Given the description of an element on the screen output the (x, y) to click on. 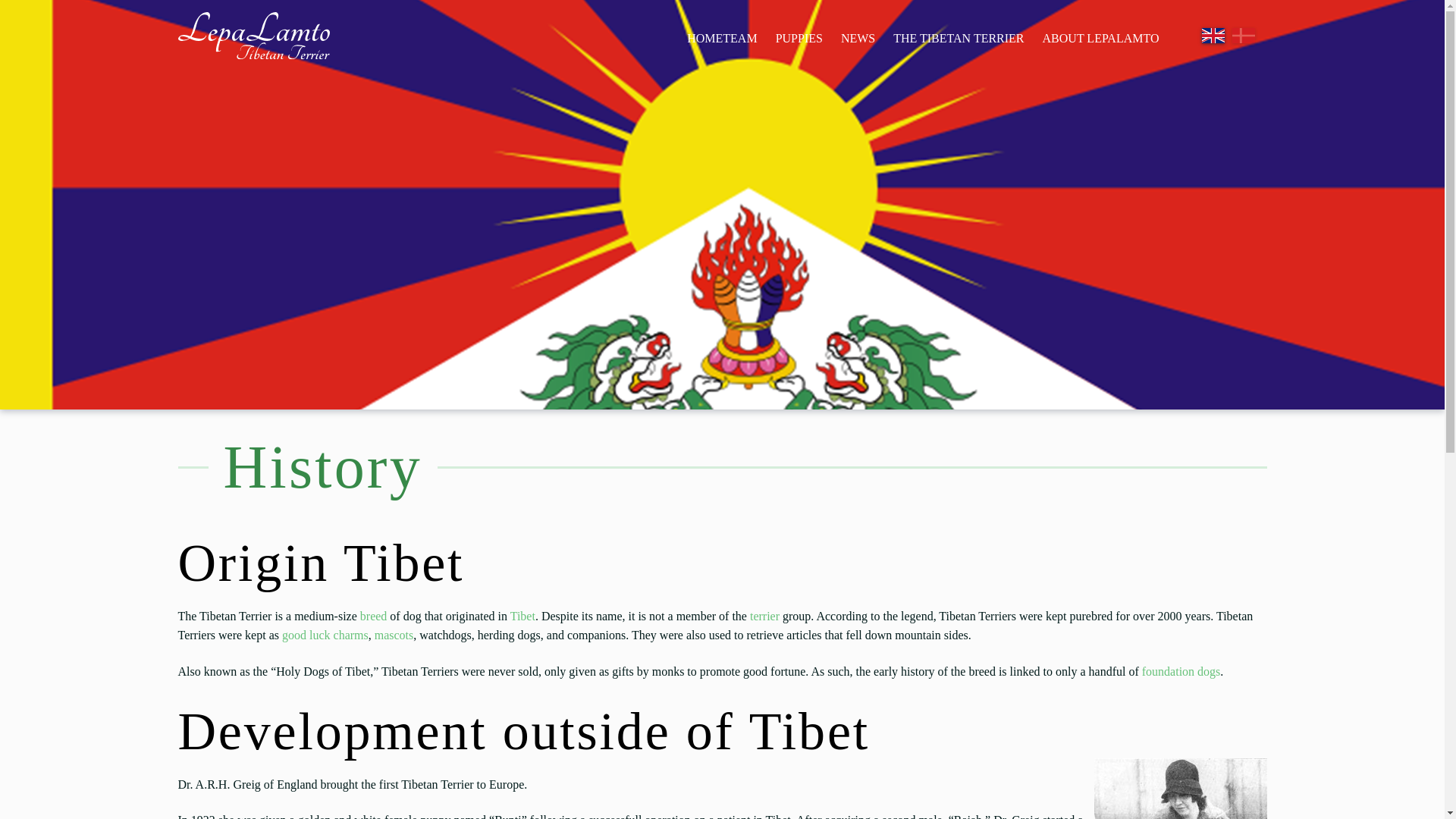
terrier (763, 615)
PUPPIES (799, 38)
HOMETEAM (721, 38)
Tibet (523, 615)
ABOUT LEPALAMTO (1101, 38)
breed (373, 615)
mascots (393, 634)
NEWS (857, 38)
foundation dogs (1181, 671)
THE TIBETAN TERRIER (957, 38)
good luck charms (325, 634)
